Given the description of an element on the screen output the (x, y) to click on. 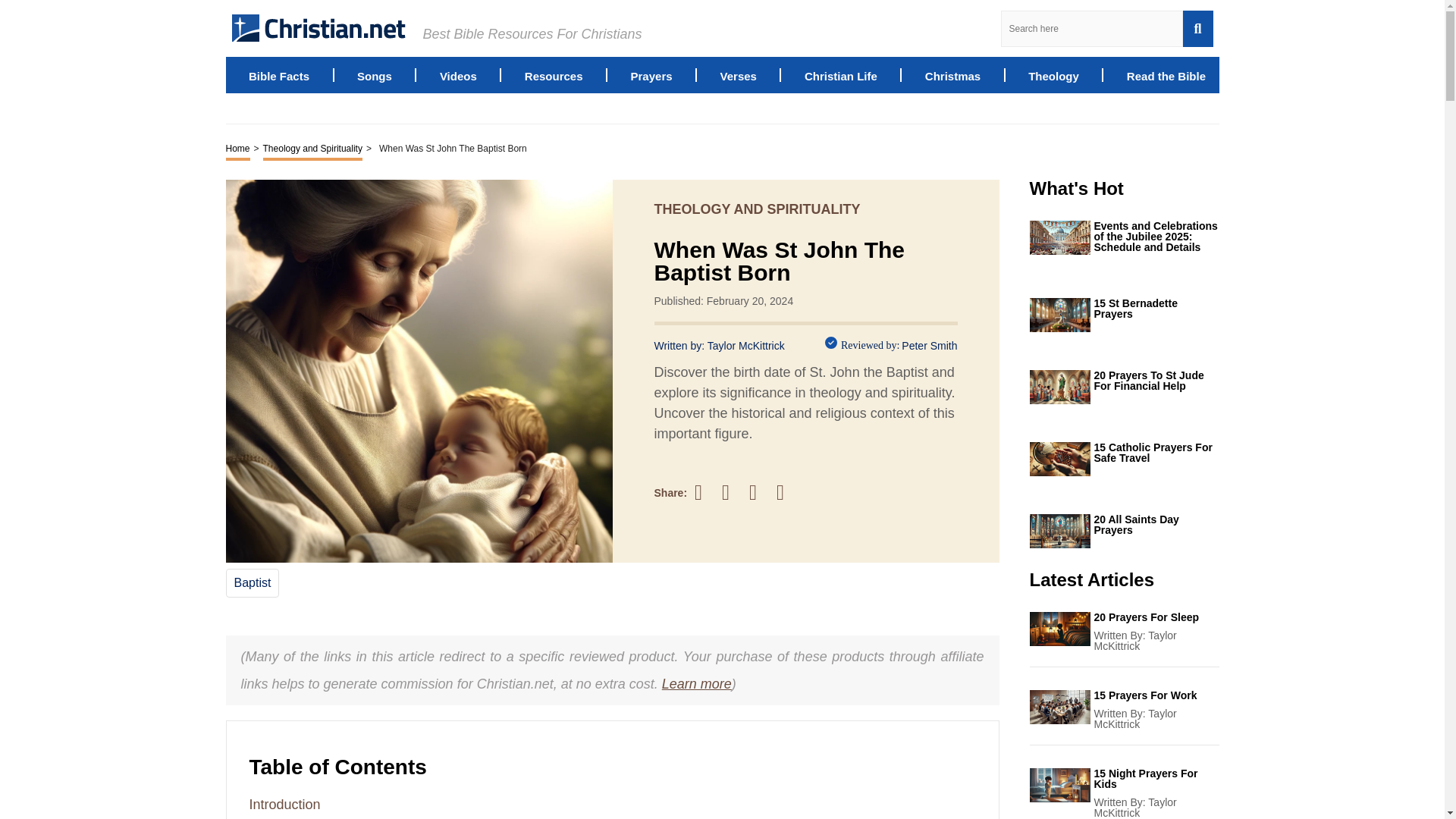
Songs (373, 74)
Christmas (951, 74)
Prayers (651, 74)
Videos (458, 74)
Bible Facts (278, 74)
Share on Pinterest (759, 492)
Christian Life (841, 74)
Share on Twitter (732, 492)
Learn more (697, 683)
Read the Bible (1165, 74)
